Given the description of an element on the screen output the (x, y) to click on. 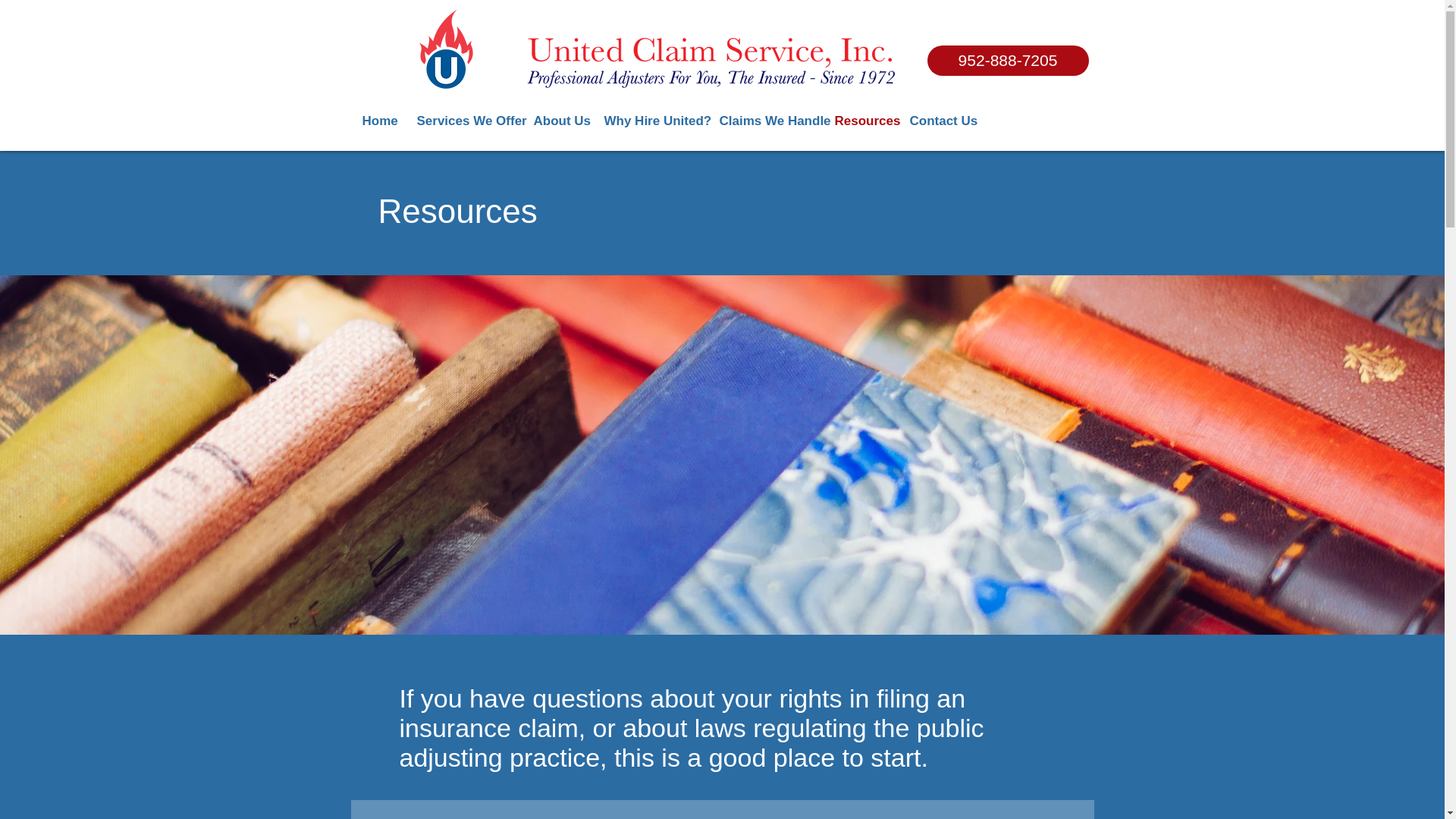
Home (377, 120)
About Us (556, 120)
Resources (861, 120)
Claims We Handle (765, 120)
Why Hire United? (649, 120)
952-888-7205 (1006, 60)
Contact Us (938, 120)
Services We Offer (462, 120)
